Given the description of an element on the screen output the (x, y) to click on. 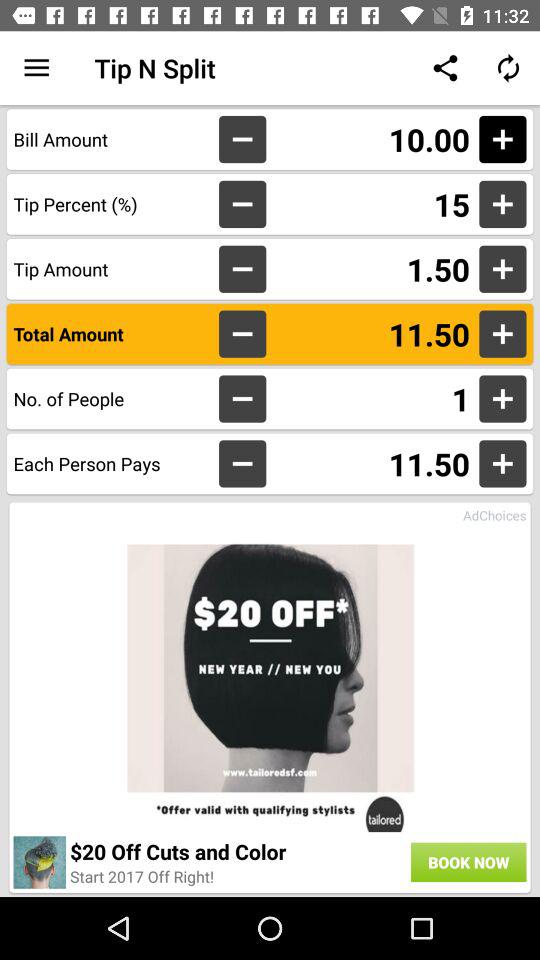
press the item to the right of the tip n split icon (444, 67)
